Given the description of an element on the screen output the (x, y) to click on. 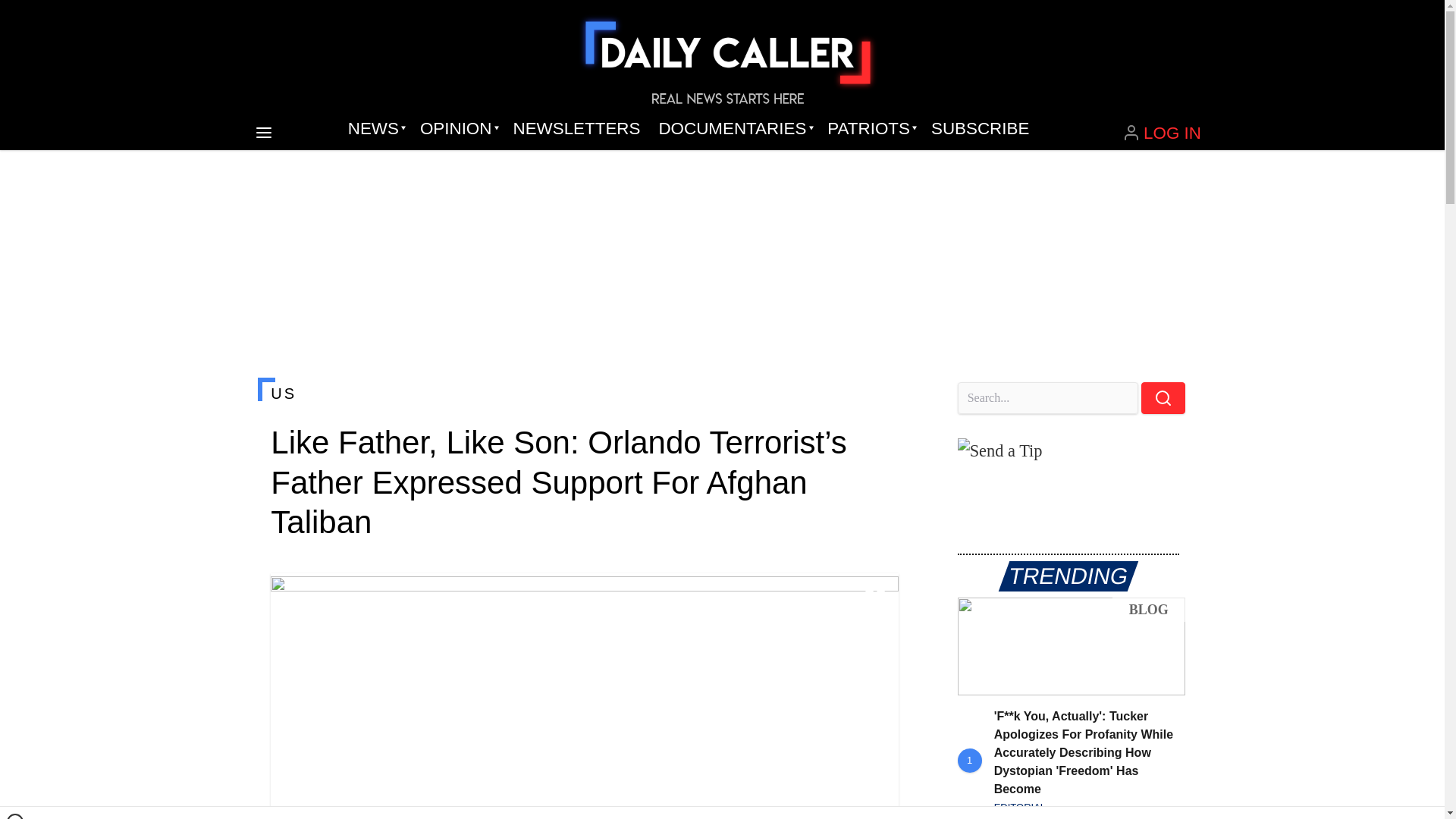
Close window (14, 816)
US (584, 393)
NEWS (374, 128)
NEWSLETTERS (576, 128)
SUBSCRIBE (979, 128)
DOCUMENTARIES (733, 128)
Toggle fullscreen (874, 596)
OPINION (456, 128)
PATRIOTS (869, 128)
